Given the description of an element on the screen output the (x, y) to click on. 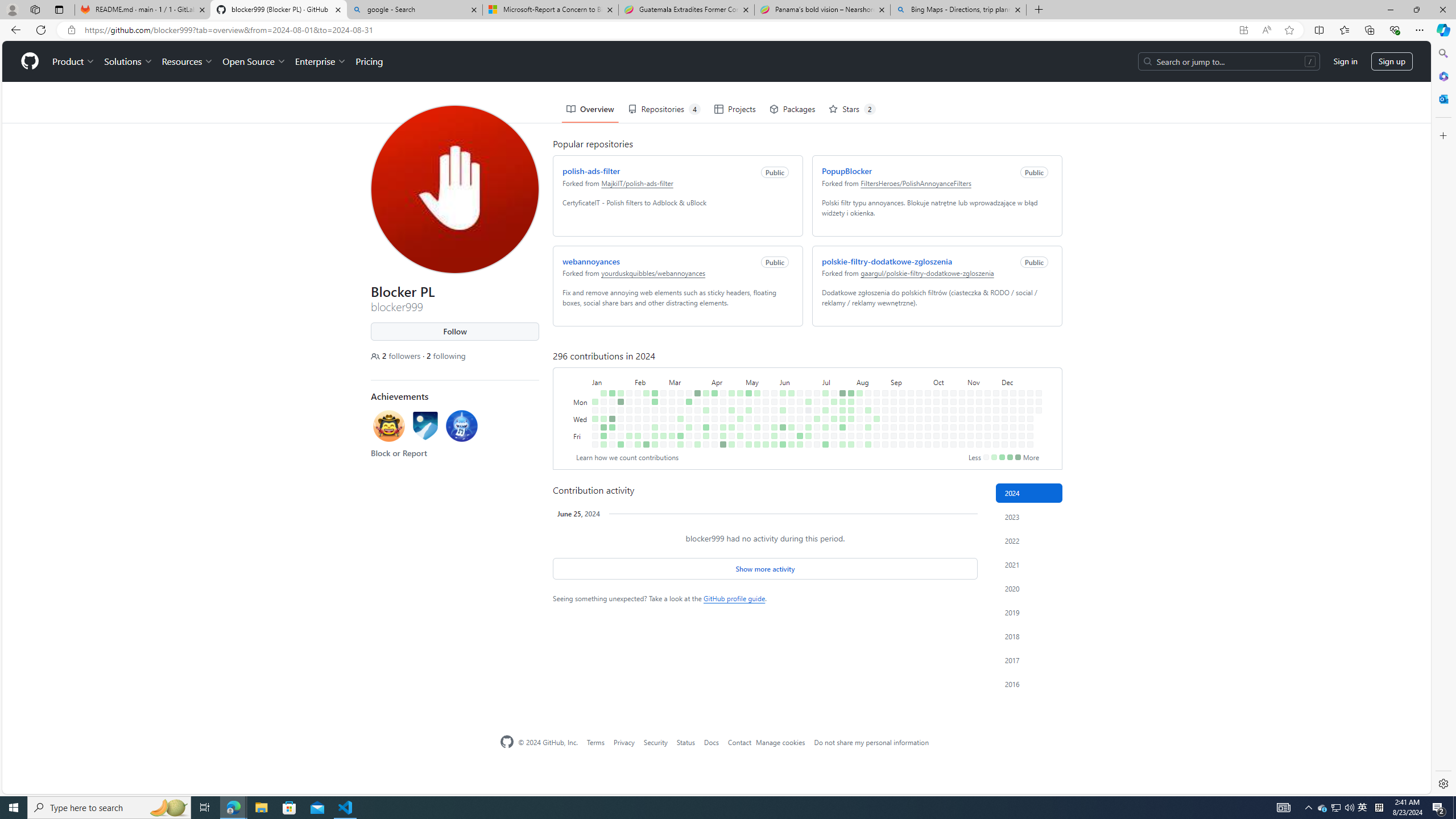
No contributions on December 5th. (1002, 386)
3 contributions on March 30th. (697, 444)
No contributions on January 6th. (595, 444)
No contributions on July 6th. (816, 444)
No contributions on September 25th. (917, 377)
polskie-filtry-dodatkowe-zgloszenia (884, 220)
No contributions on March 19th. (687, 369)
No contributions on April 1st. (703, 360)
No contributions on August 8th. (857, 386)
No contributions on July 14th. (831, 351)
No contributions on March 7th. (669, 386)
No contributions on May 4th. (740, 444)
No contributions on March 11th. (678, 360)
